Given the description of an element on the screen output the (x, y) to click on. 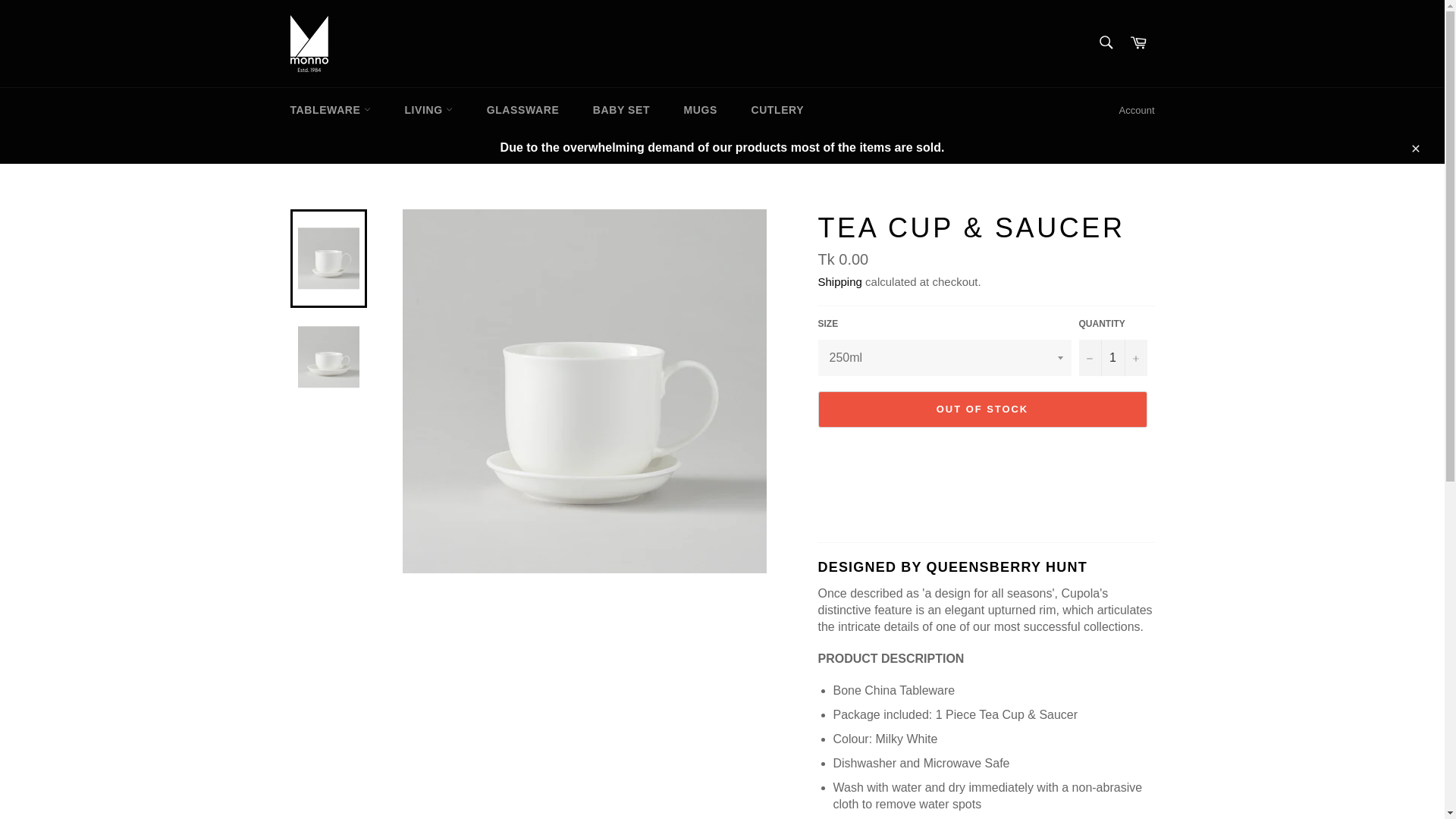
Cart (1138, 43)
1 (1112, 357)
Search (1104, 42)
TABLEWARE (330, 109)
